Given the description of an element on the screen output the (x, y) to click on. 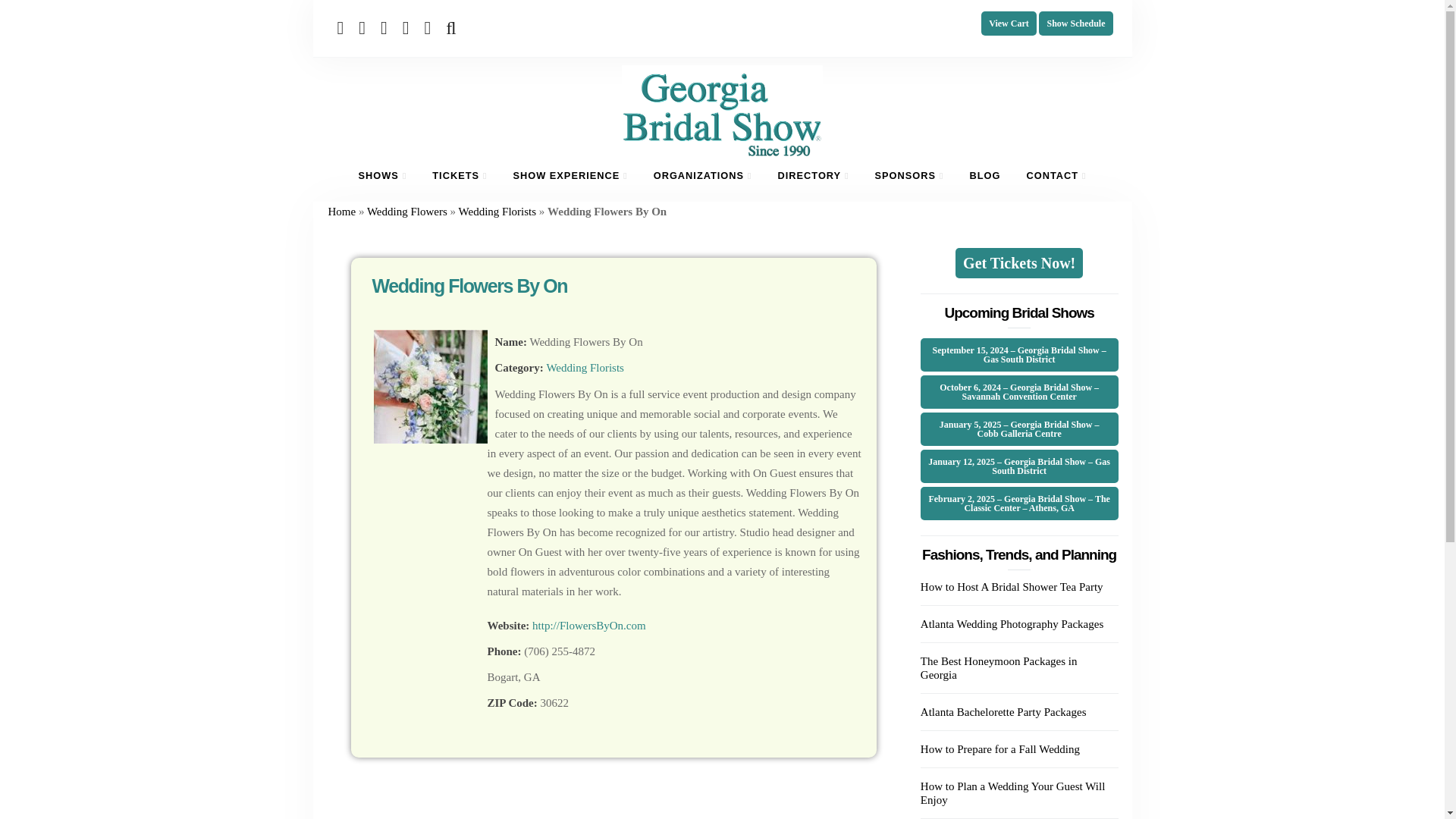
Youtube (386, 27)
Twitter (364, 27)
Instagram (430, 27)
Facebook (342, 27)
Pinterest (408, 27)
